Given the description of an element on the screen output the (x, y) to click on. 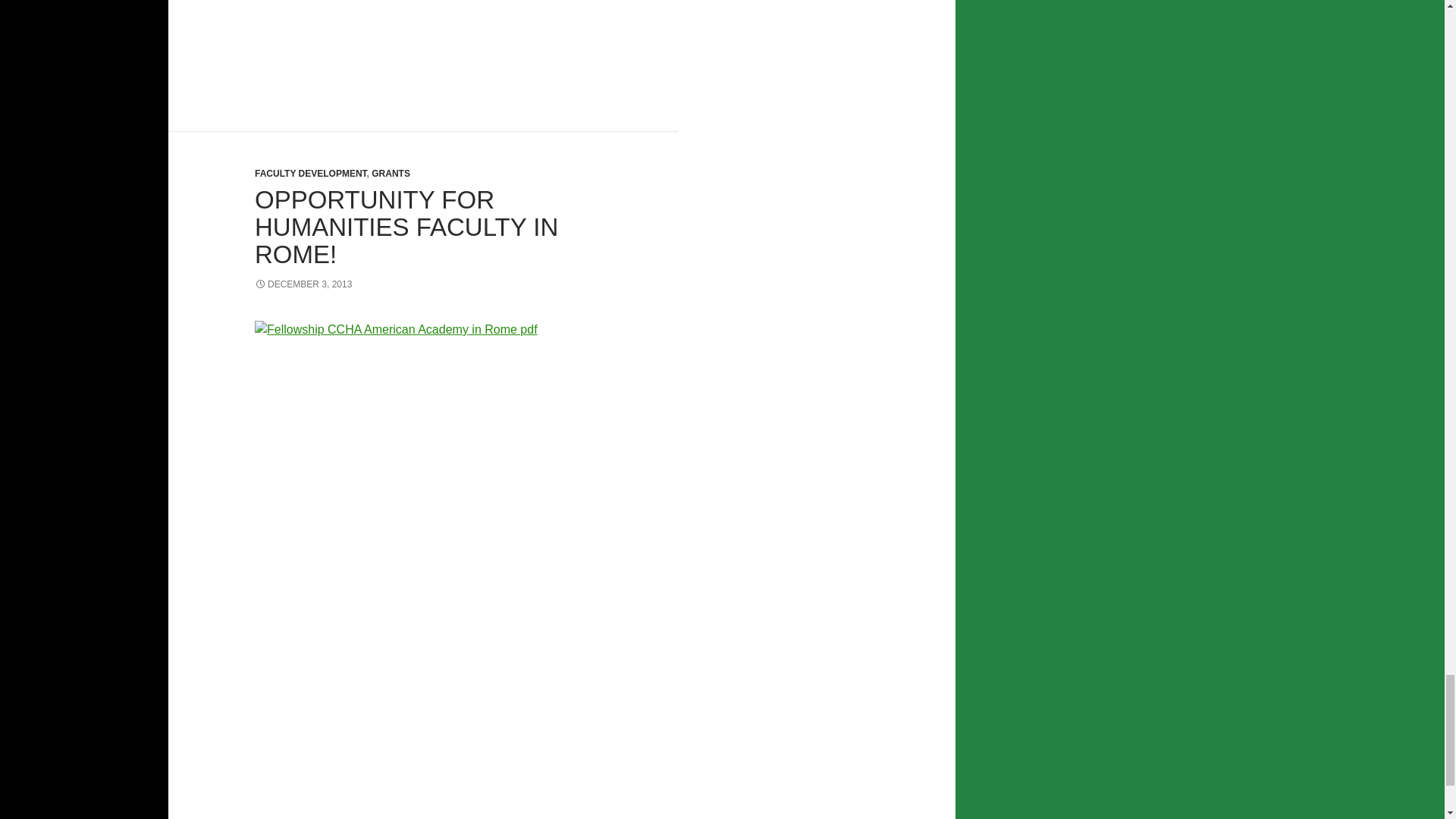
DECEMBER 3, 2013 (303, 284)
GRANTS (390, 173)
FACULTY DEVELOPMENT (310, 173)
OPPORTUNITY FOR HUMANITIES FACULTY IN ROME! (405, 226)
